Given the description of an element on the screen output the (x, y) to click on. 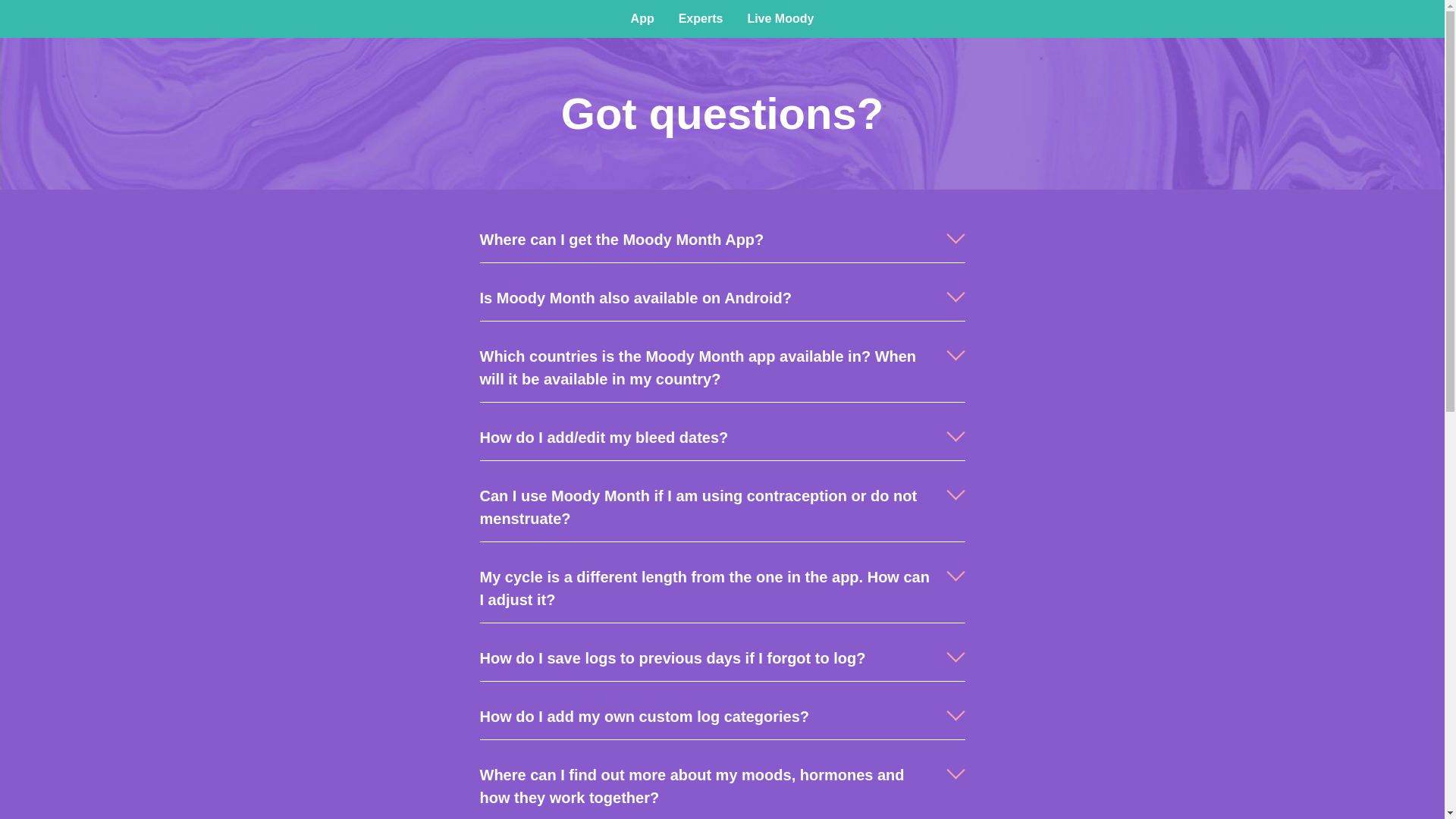
Experts (700, 18)
App (642, 18)
Live Moody (780, 18)
